Given the description of an element on the screen output the (x, y) to click on. 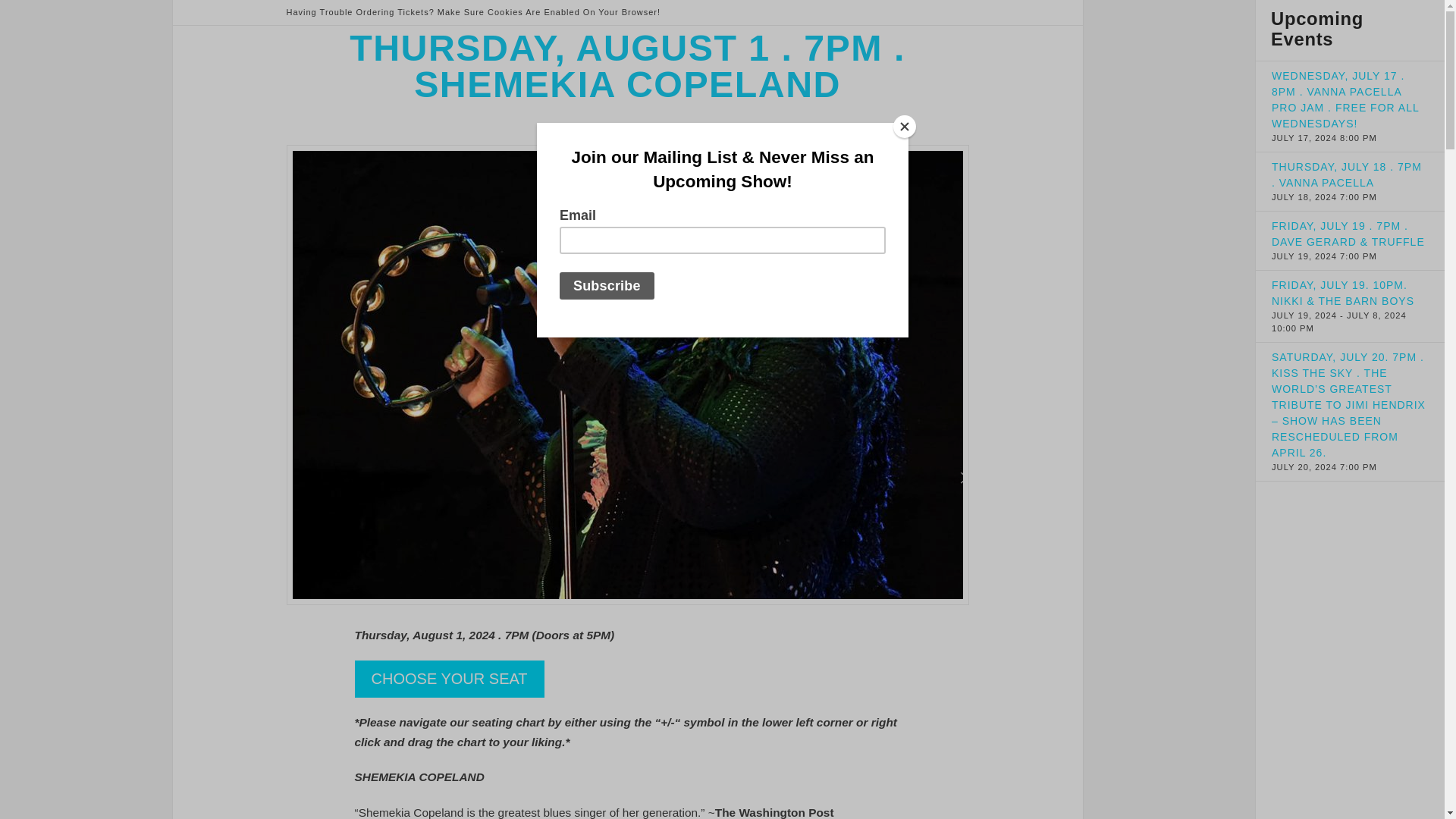
THURSDAY, JULY 18 . 7PM . VANNA PACELLA (1346, 174)
CHOOSE YOUR SEAT (449, 678)
